Given the description of an element on the screen output the (x, y) to click on. 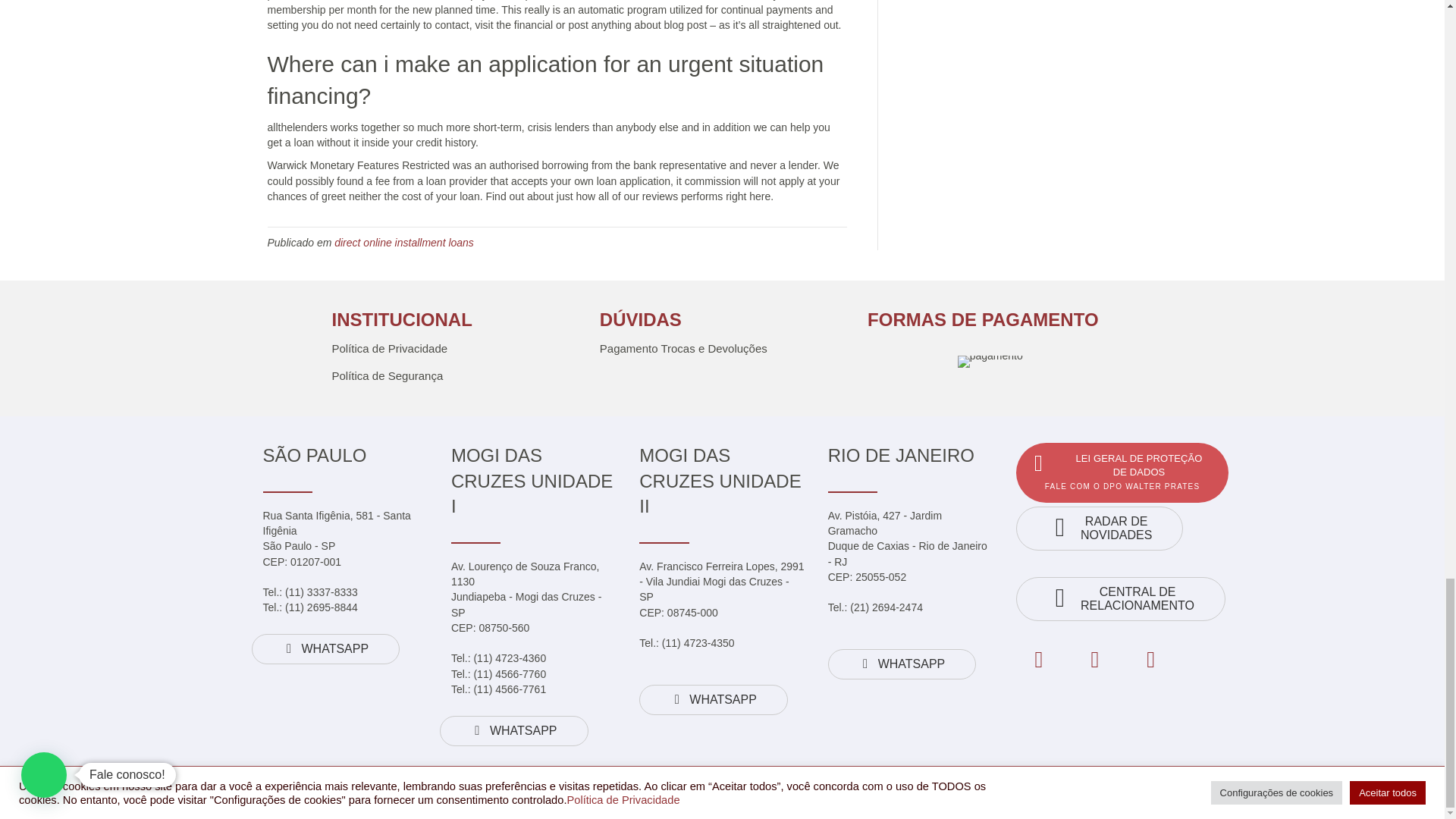
Facebook (1038, 659)
pagamento (990, 361)
YouTube (1150, 659)
Instagram (1094, 659)
